Given the description of an element on the screen output the (x, y) to click on. 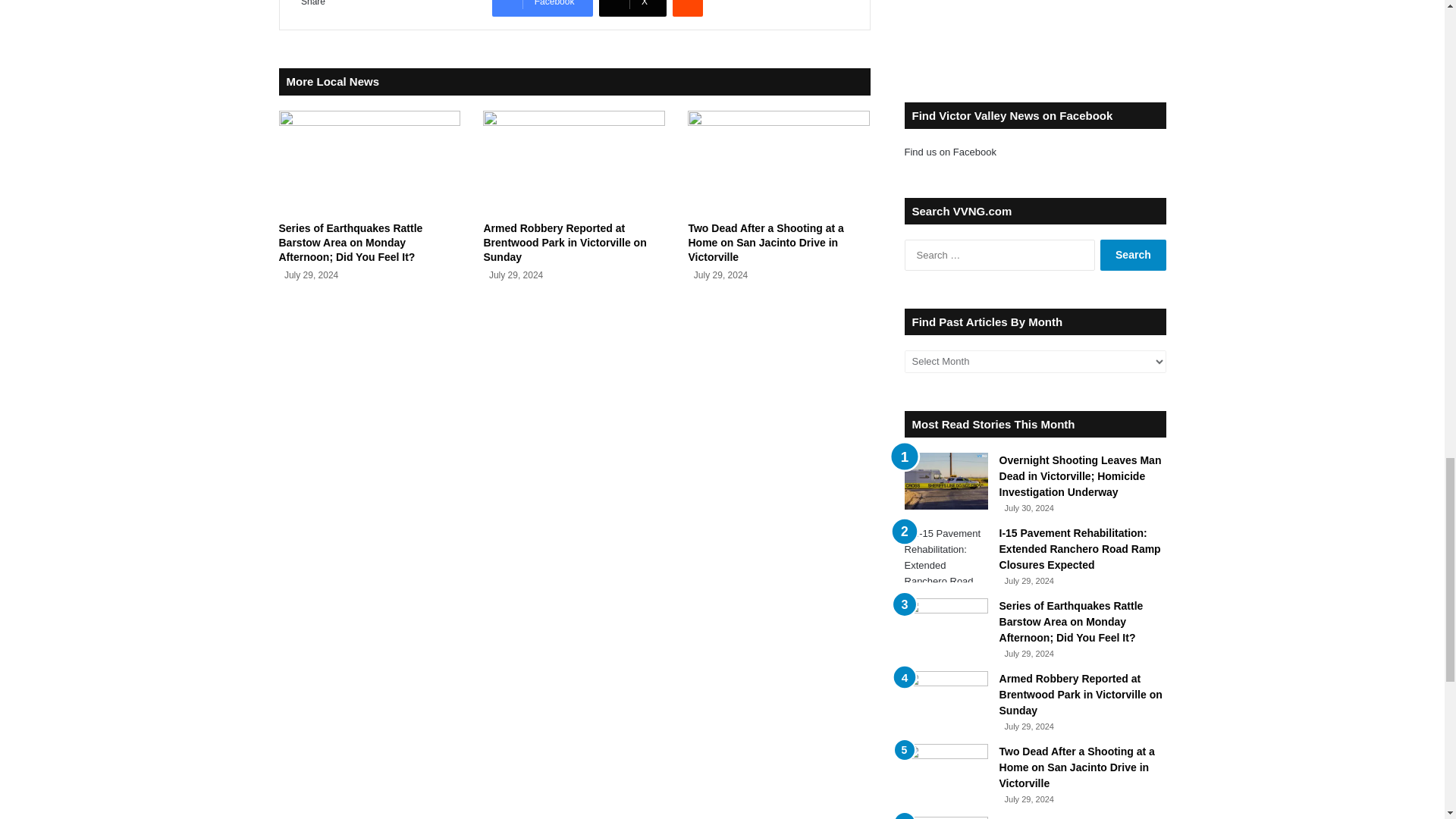
Search (1133, 255)
Search (1133, 255)
